Given the description of an element on the screen output the (x, y) to click on. 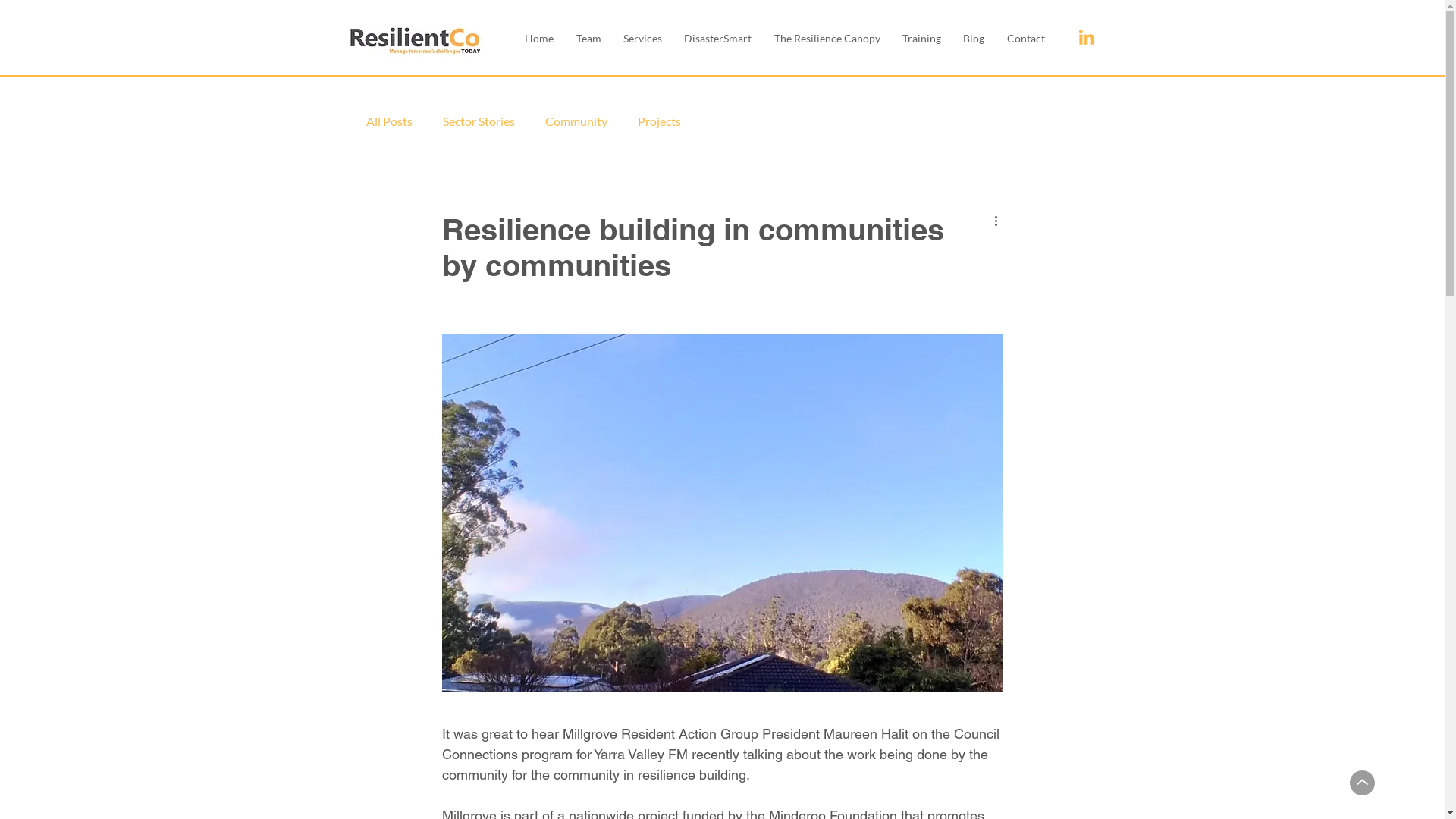
Training Element type: text (921, 38)
Services Element type: text (642, 38)
Community Element type: text (575, 120)
Sector Stories Element type: text (478, 120)
The Resilience Canopy Element type: text (826, 38)
Home Element type: text (539, 38)
All Posts Element type: text (388, 120)
DisasterSmart Element type: text (717, 38)
Team Element type: text (587, 38)
Contact Element type: text (1025, 38)
Blog Element type: text (973, 38)
Projects Element type: text (658, 120)
